Given the description of an element on the screen output the (x, y) to click on. 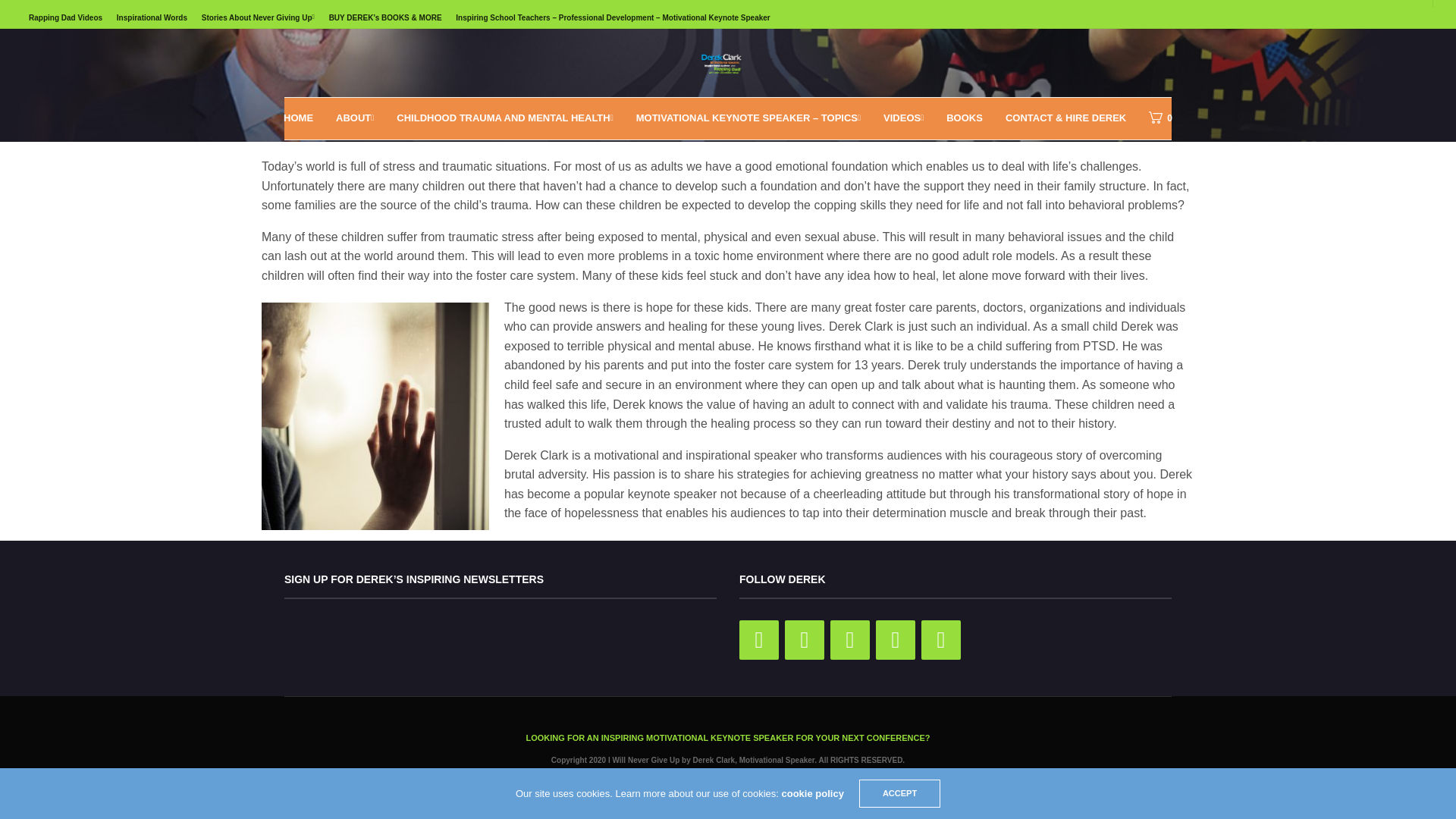
HOME (298, 118)
Stories About Never Giving Up (257, 17)
Facebook (804, 639)
Twitter (758, 639)
ABOUT (355, 118)
Inspirational Words (151, 17)
LinkedIn (895, 639)
Instagram (849, 639)
Rapping Dad Videos (65, 17)
YouTube (940, 639)
CHILDHOOD TRAUMA AND MENTAL HEALTH (504, 118)
